Given the description of an element on the screen output the (x, y) to click on. 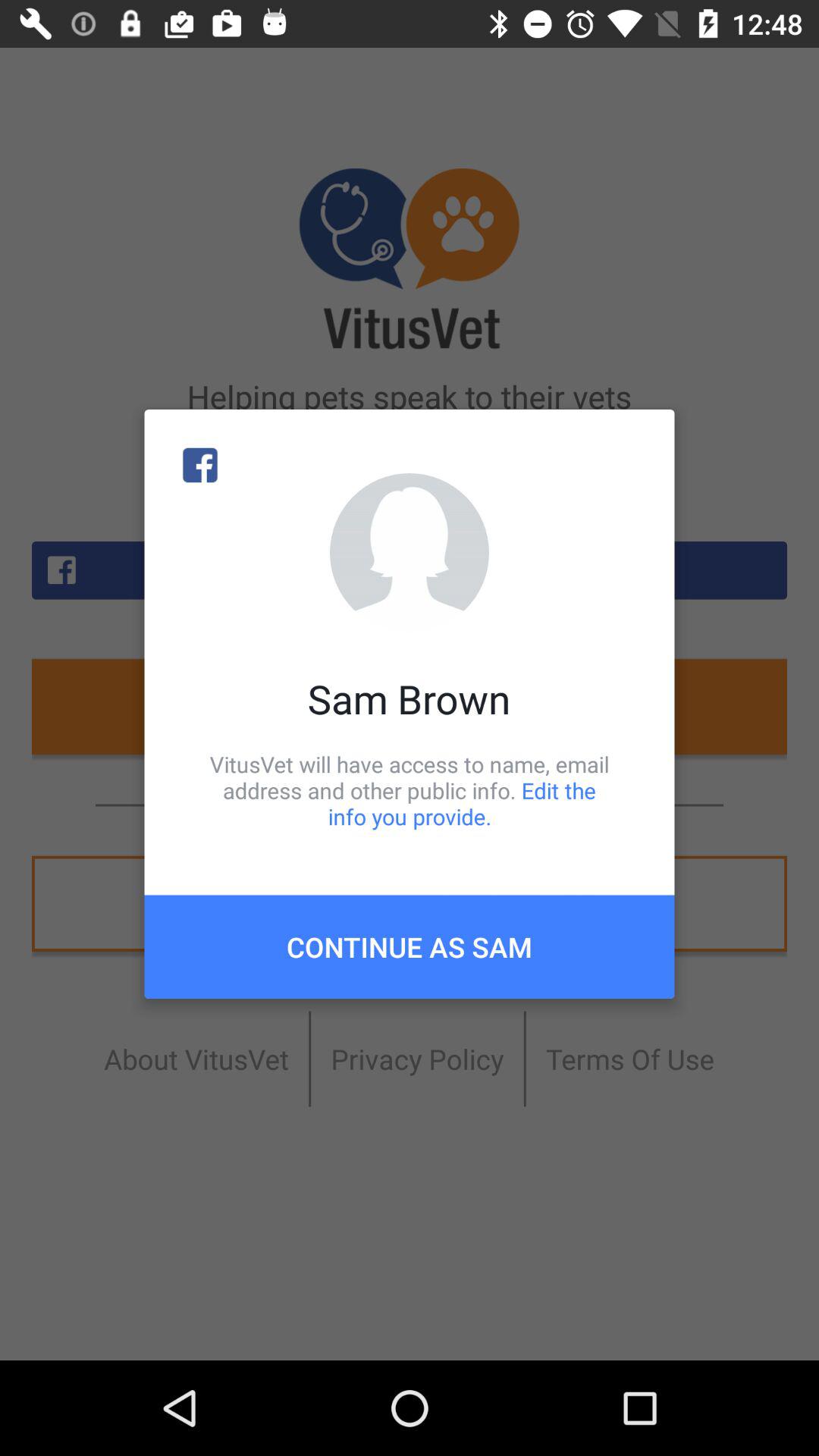
flip to the vitusvet will have icon (409, 790)
